Given the description of an element on the screen output the (x, y) to click on. 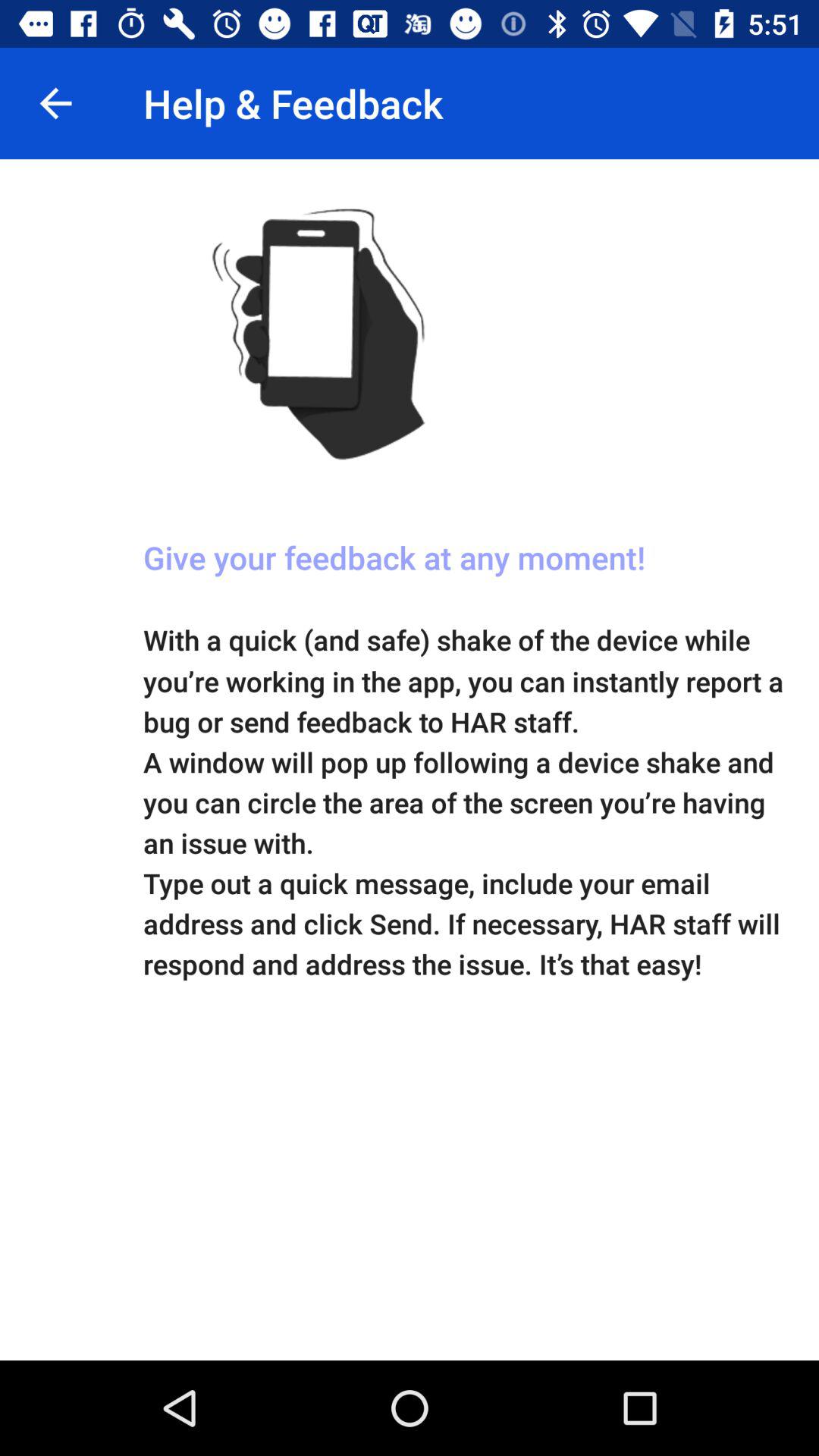
turn off icon at the top left corner (55, 103)
